Given the description of an element on the screen output the (x, y) to click on. 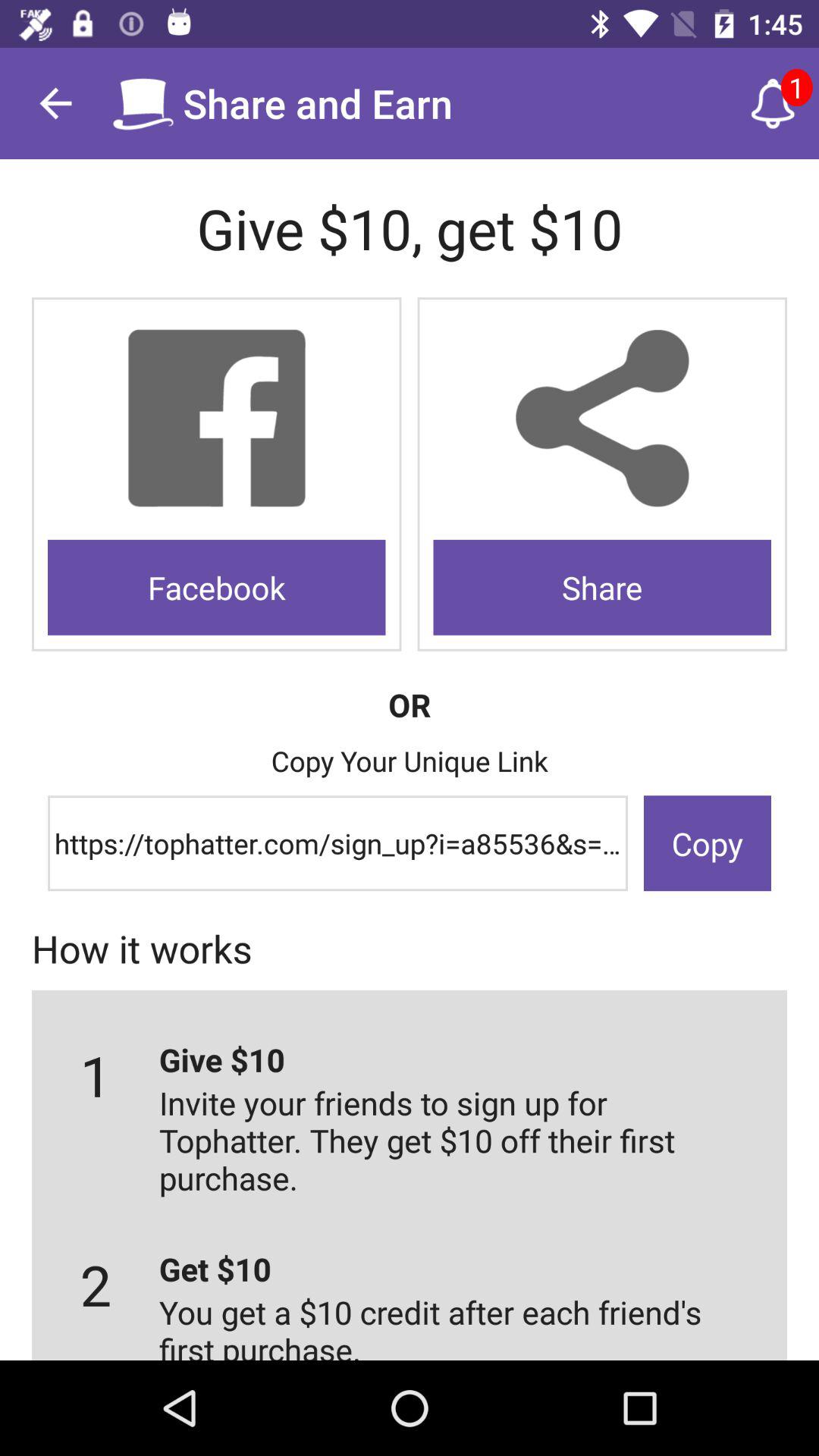
enter facebook (216, 418)
